Given the description of an element on the screen output the (x, y) to click on. 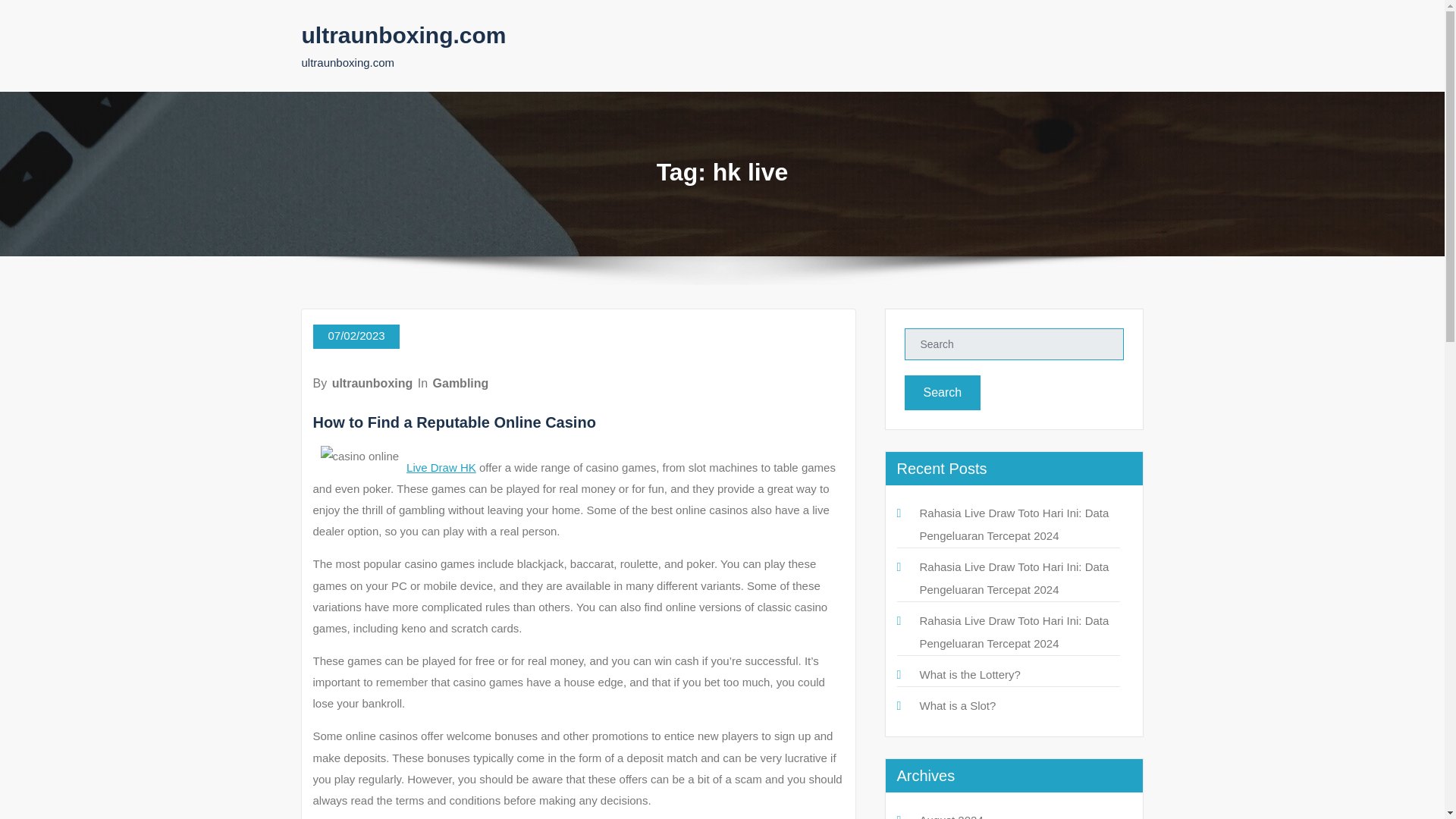
What is a Slot? (956, 705)
How to Find a Reputable Online Casino (454, 422)
Gambling (460, 382)
What is the Lottery? (969, 674)
ultraunboxing.com (403, 34)
August 2024 (950, 816)
Search (941, 392)
ultraunboxing (372, 382)
